Given the description of an element on the screen output the (x, y) to click on. 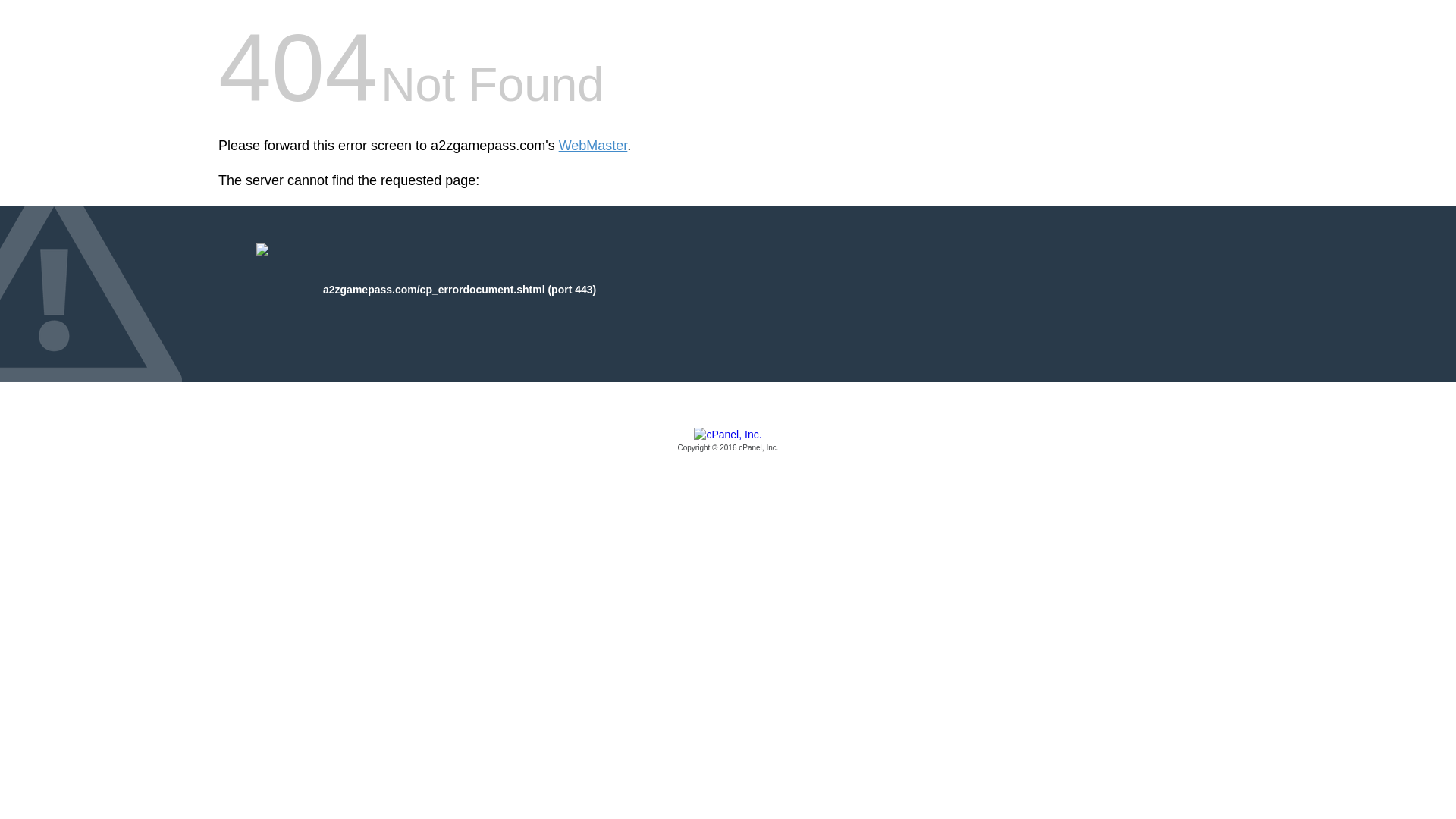
cPanel, Inc. (727, 440)
WebMaster (593, 145)
